Given the description of an element on the screen output the (x, y) to click on. 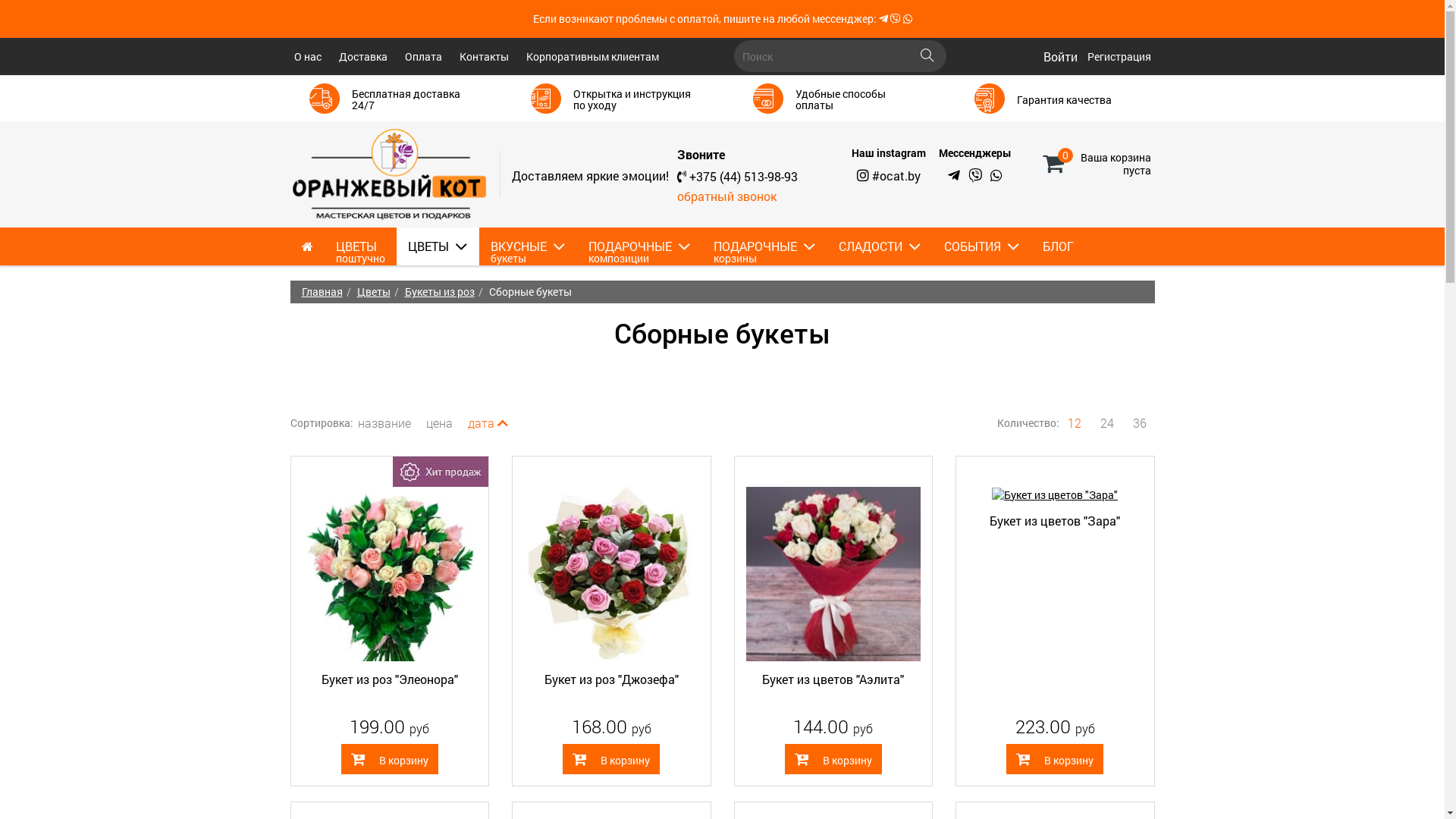
#ocat.by Element type: text (896, 175)
